Given the description of an element on the screen output the (x, y) to click on. 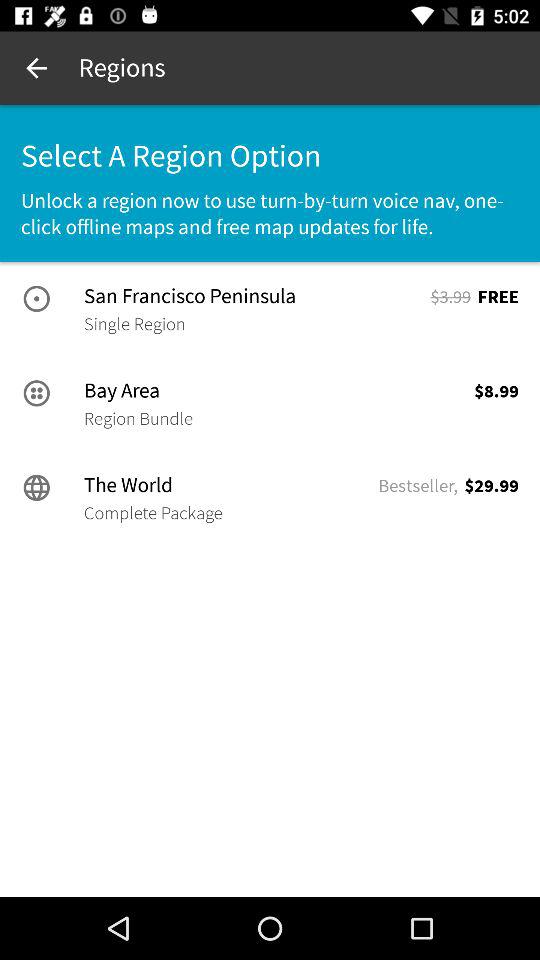
scroll until region bundle icon (138, 418)
